Given the description of an element on the screen output the (x, y) to click on. 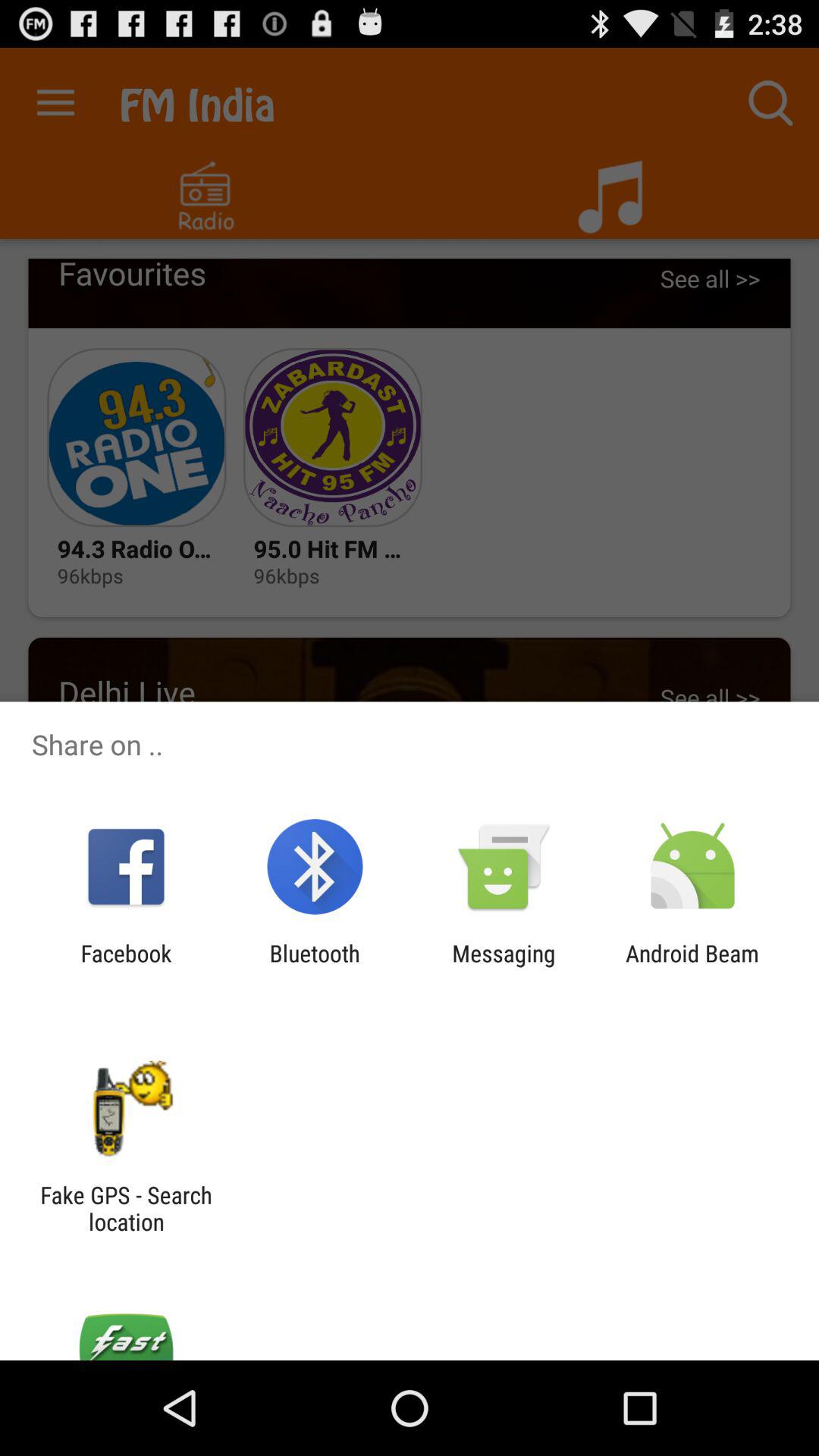
press the facebook item (125, 966)
